Given the description of an element on the screen output the (x, y) to click on. 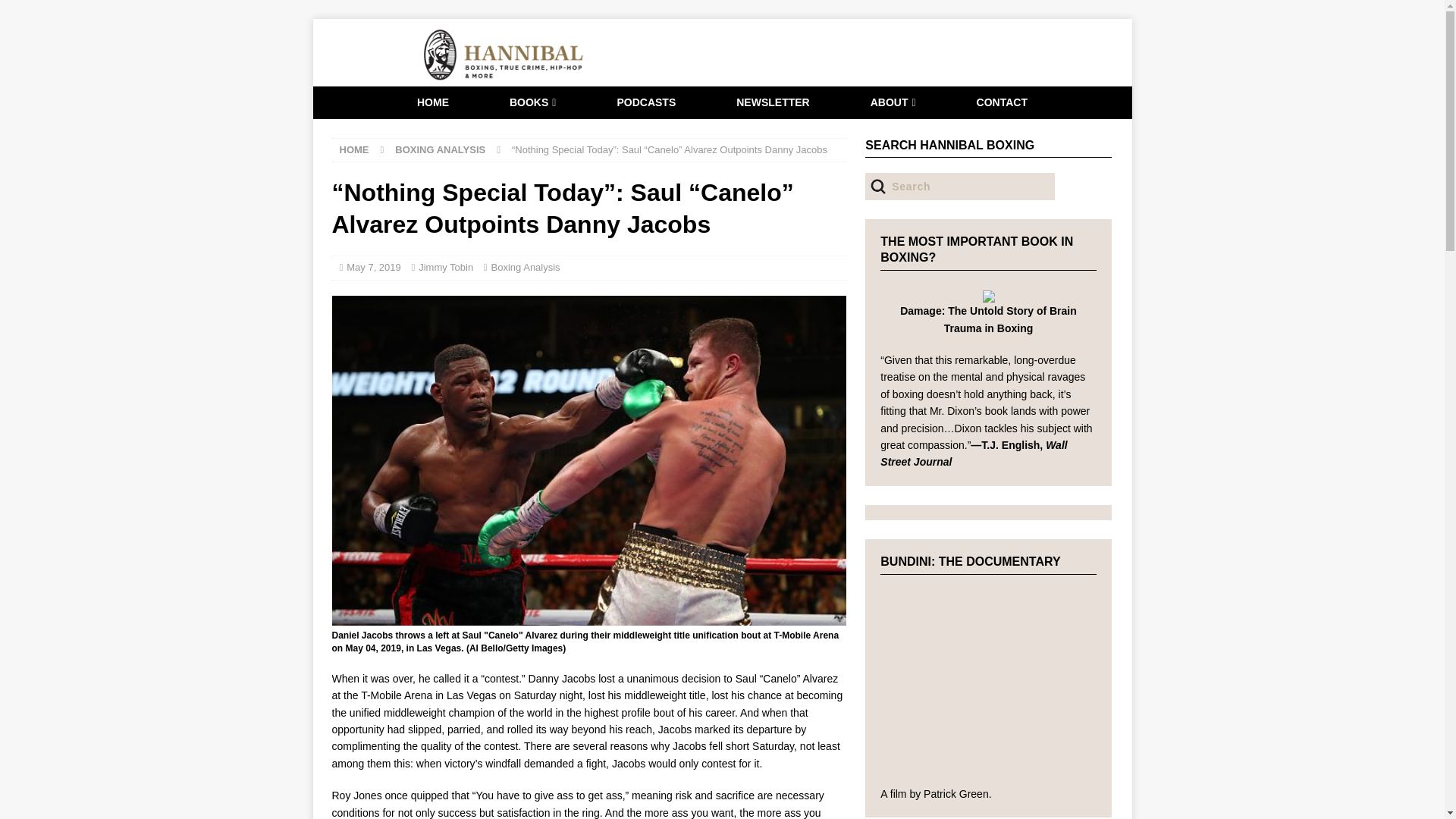
CONTACT (1002, 101)
NEWSLETTER (773, 101)
BOXING ANALYSIS (439, 149)
Jimmy Tobin (446, 266)
PODCASTS (646, 101)
May 7, 2019 (373, 266)
HOME (354, 149)
HOME (433, 101)
ABOUT (893, 101)
